Given the description of an element on the screen output the (x, y) to click on. 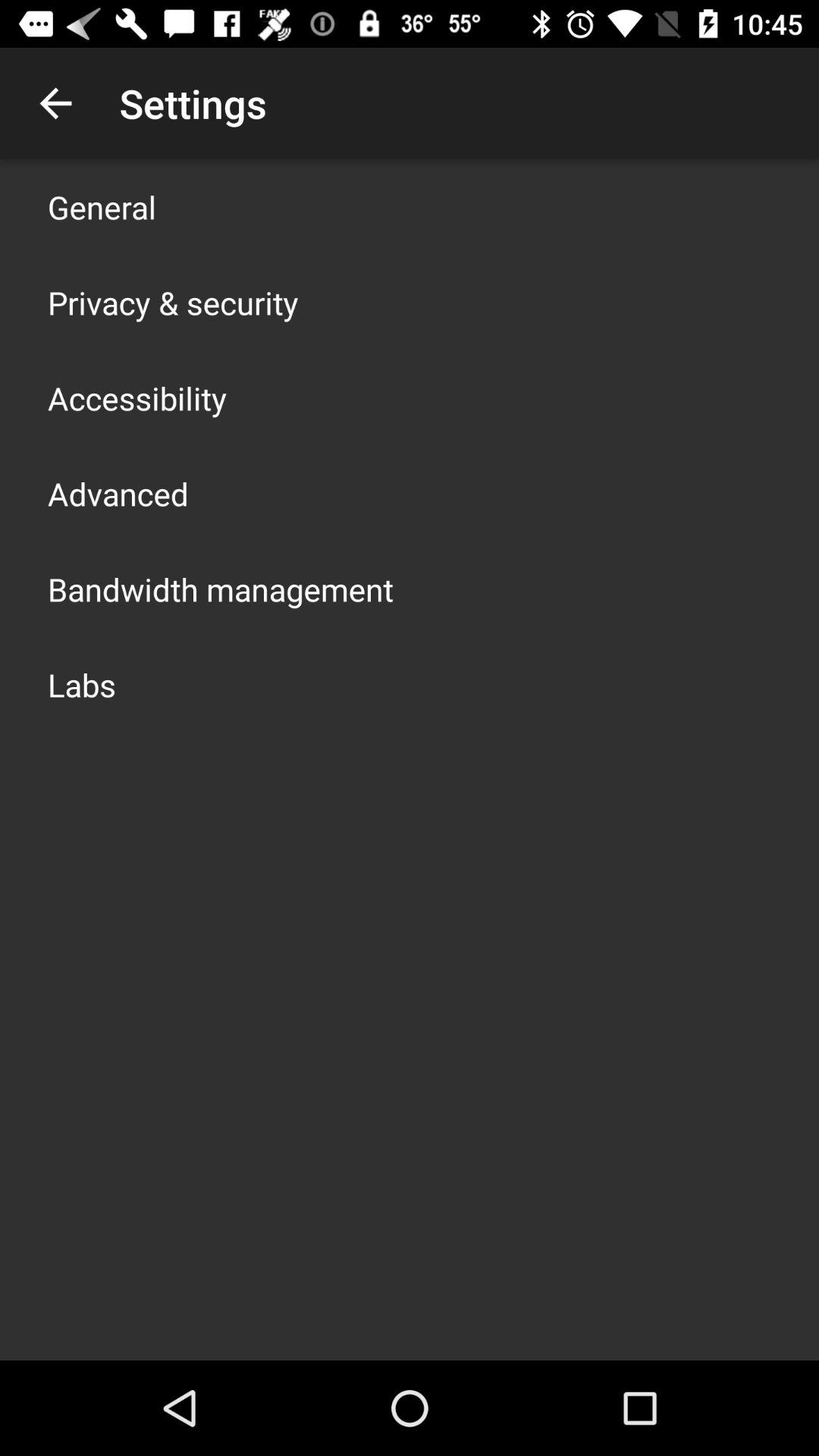
launch the item to the left of settings (55, 103)
